Given the description of an element on the screen output the (x, y) to click on. 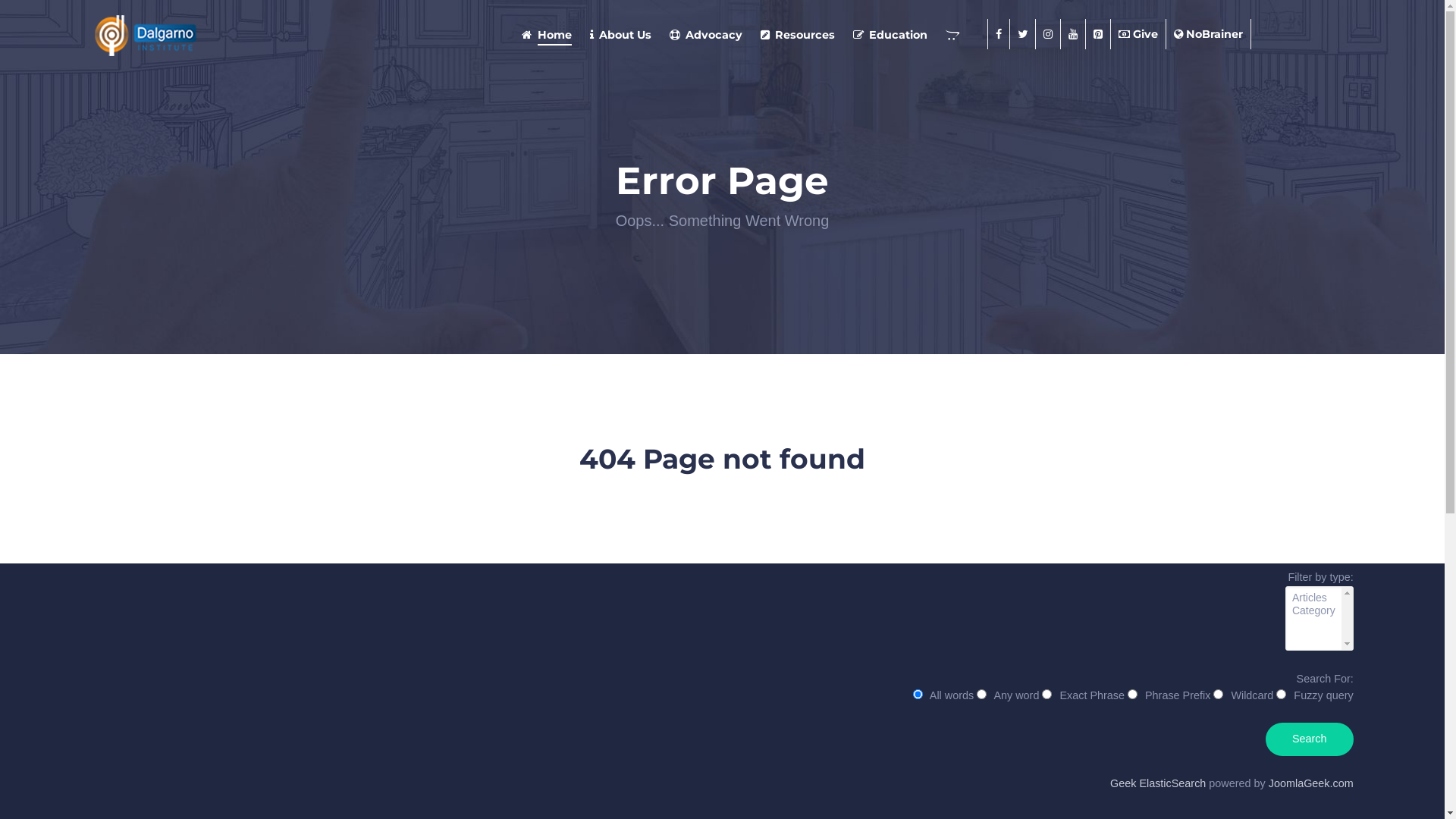
read more Element type: text (161, 270)
Resources Element type: text (797, 34)
Education Element type: text (890, 34)
YouTube Element type: hover (1348, 408)
Search Element type: text (1309, 739)
Instagram Element type: hover (1047, 33)
Facebook Element type: hover (1267, 408)
Geek ElasticSearch Element type: text (1157, 783)
Advocacy Element type: text (705, 34)
Search Element type: hover (1329, 442)
Give Element type: text (1138, 33)
Online Store Element type: text (782, 257)
Store Element type: hover (955, 34)
Visit us on FaceBook Element type: hover (998, 33)
Twitter Element type: hover (1022, 33)
Twitter Element type: hover (1293, 408)
Dalgarno Institute Element type: hover (222, 33)
office use only Element type: text (118, 441)
NoBrainer Element type: text (1208, 33)
JoomlaGeek.com Element type: text (1310, 783)
About Us Element type: text (619, 34)
Pintrest Element type: hover (1097, 33)
PresData Services Element type: text (254, 425)
Home Element type: text (545, 34)
Instagram Element type: hover (1321, 408)
Contact Us Element type: text (776, 233)
YouTube Channel Element type: hover (1072, 33)
